Given the description of an element on the screen output the (x, y) to click on. 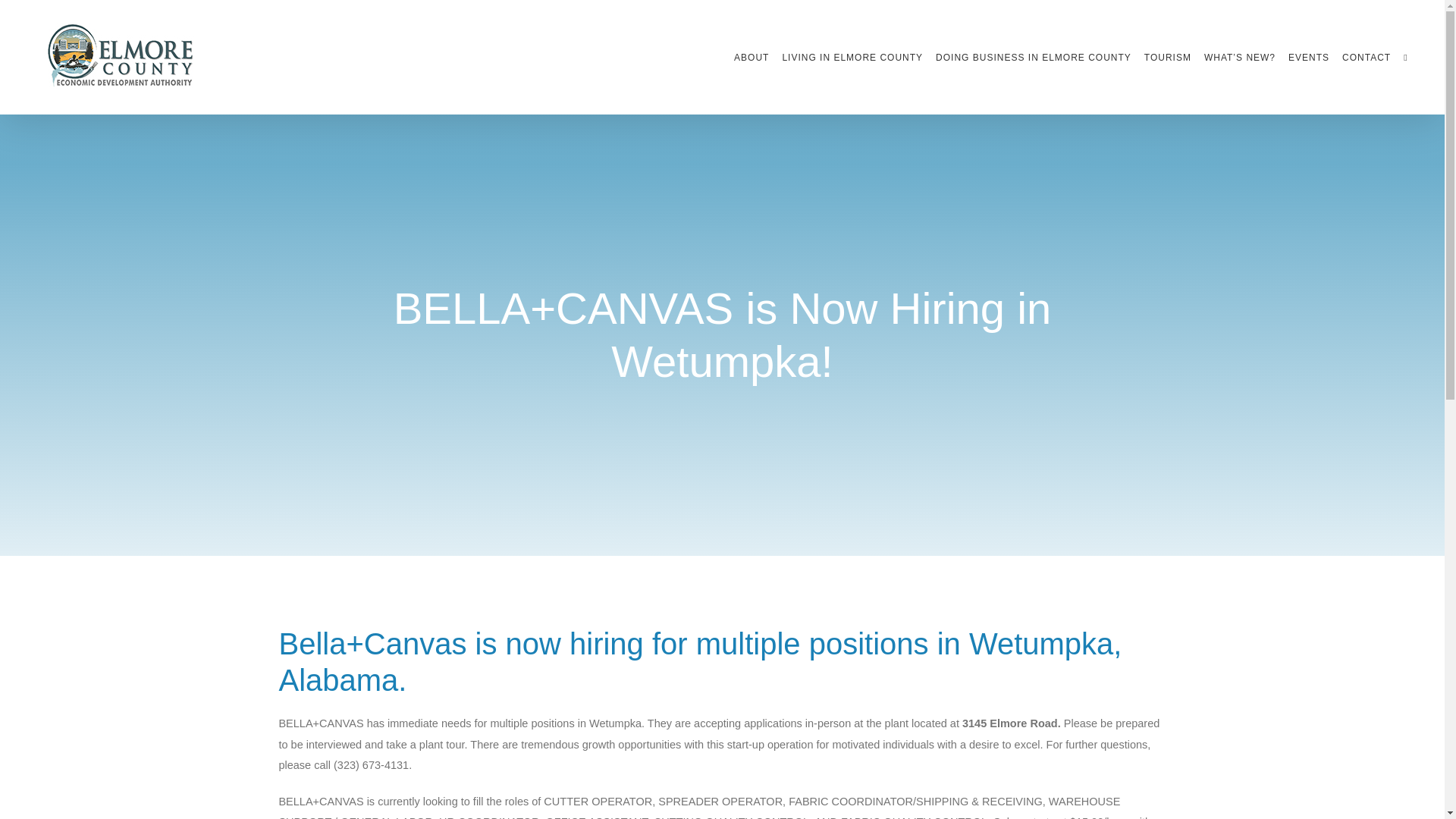
DOING BUSINESS IN ELMORE COUNTY (1033, 57)
LIVING IN ELMORE COUNTY (852, 57)
